Given the description of an element on the screen output the (x, y) to click on. 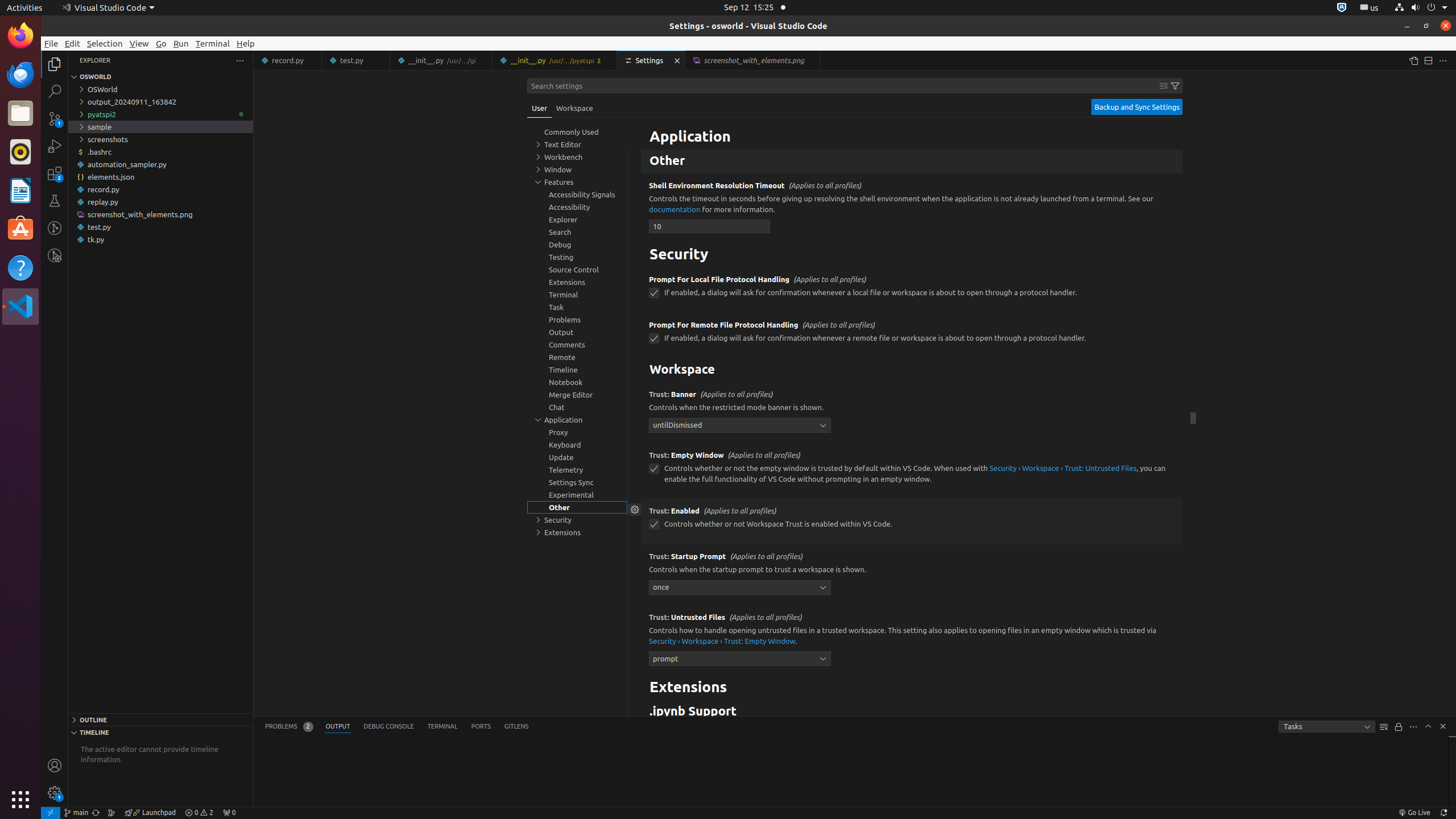
Accounts Element type: push-button (54, 765)
security.promptForRemoteFileProtocolHandling Element type: check-box (653, 338)
 Prompt For Local File Protocol Handling. Setting value retained when switching profiles. If enabled, a dialog will ask for confirmation whenever a local file or workspace is about to open through a protocol handler.  Element type: tree-item (911, 289)
Selection Element type: push-button (104, 43)
No Ports Forwarded Element type: push-button (228, 812)
